Given the description of an element on the screen output the (x, y) to click on. 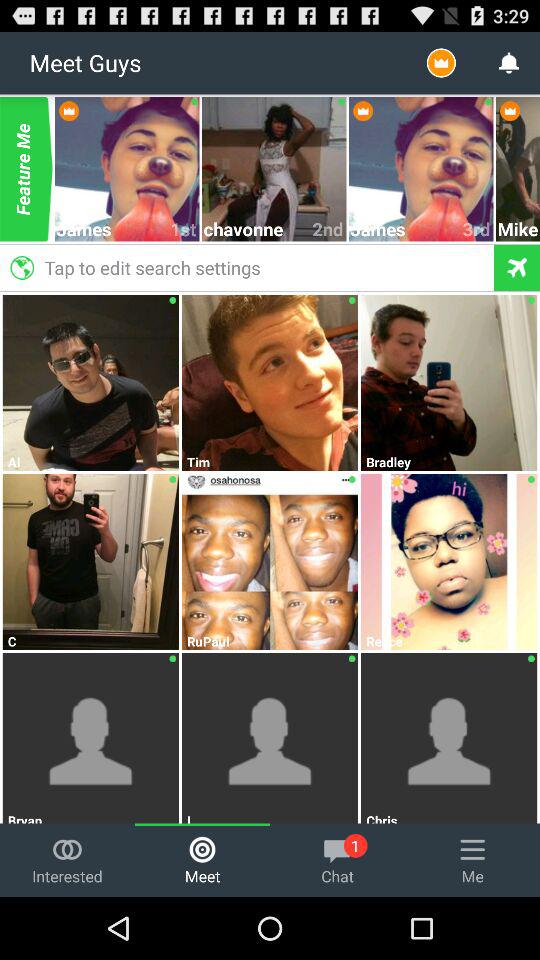
location tool (516, 267)
